Given the description of an element on the screen output the (x, y) to click on. 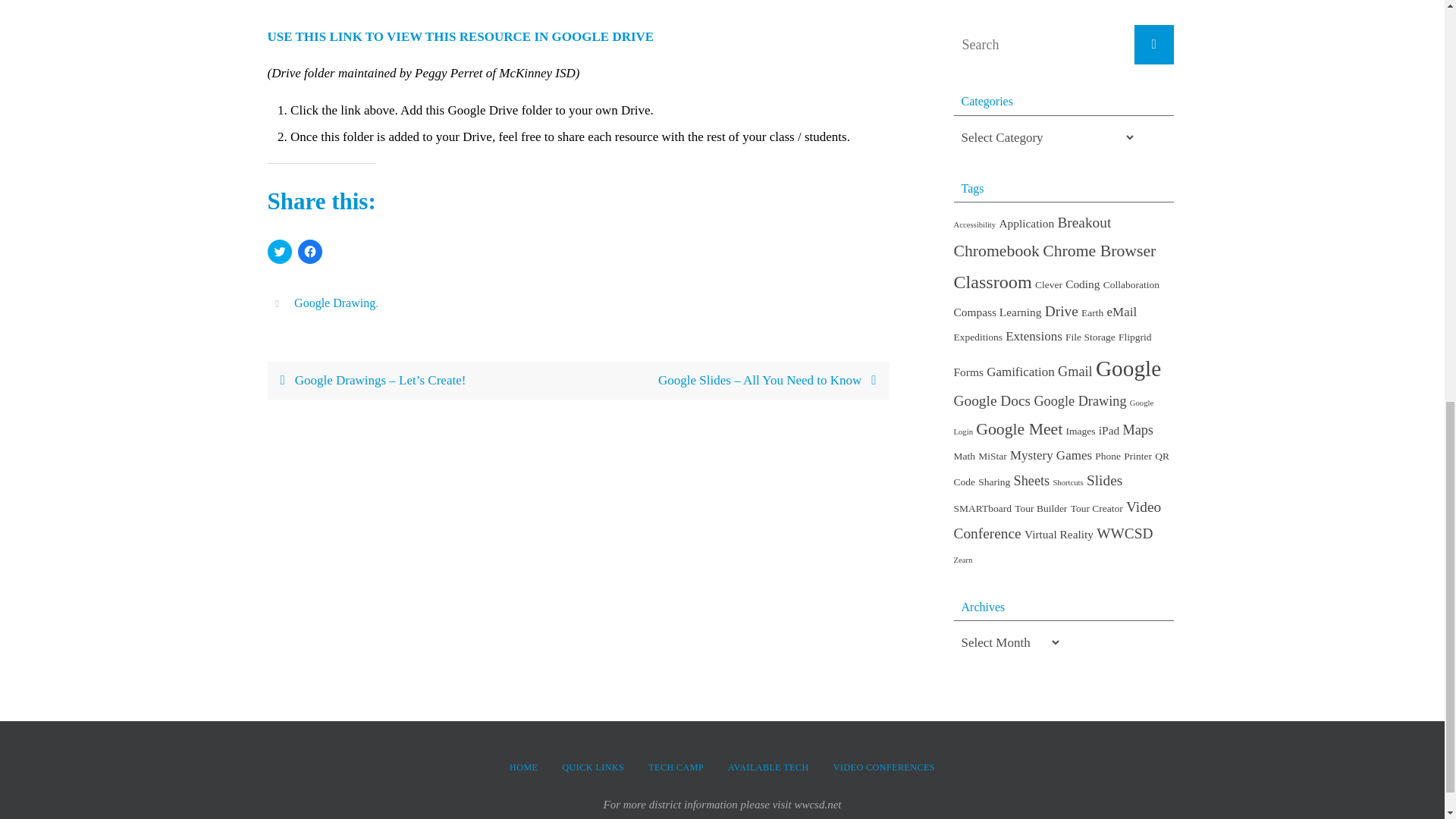
Click to share on Twitter (278, 251)
Click to share on Facebook (309, 251)
Google Drawing (334, 303)
USE THIS LINK TO VIEW THIS RESOURCE IN GOOGLE DRIVE (465, 36)
Tagged (278, 302)
